Given the description of an element on the screen output the (x, y) to click on. 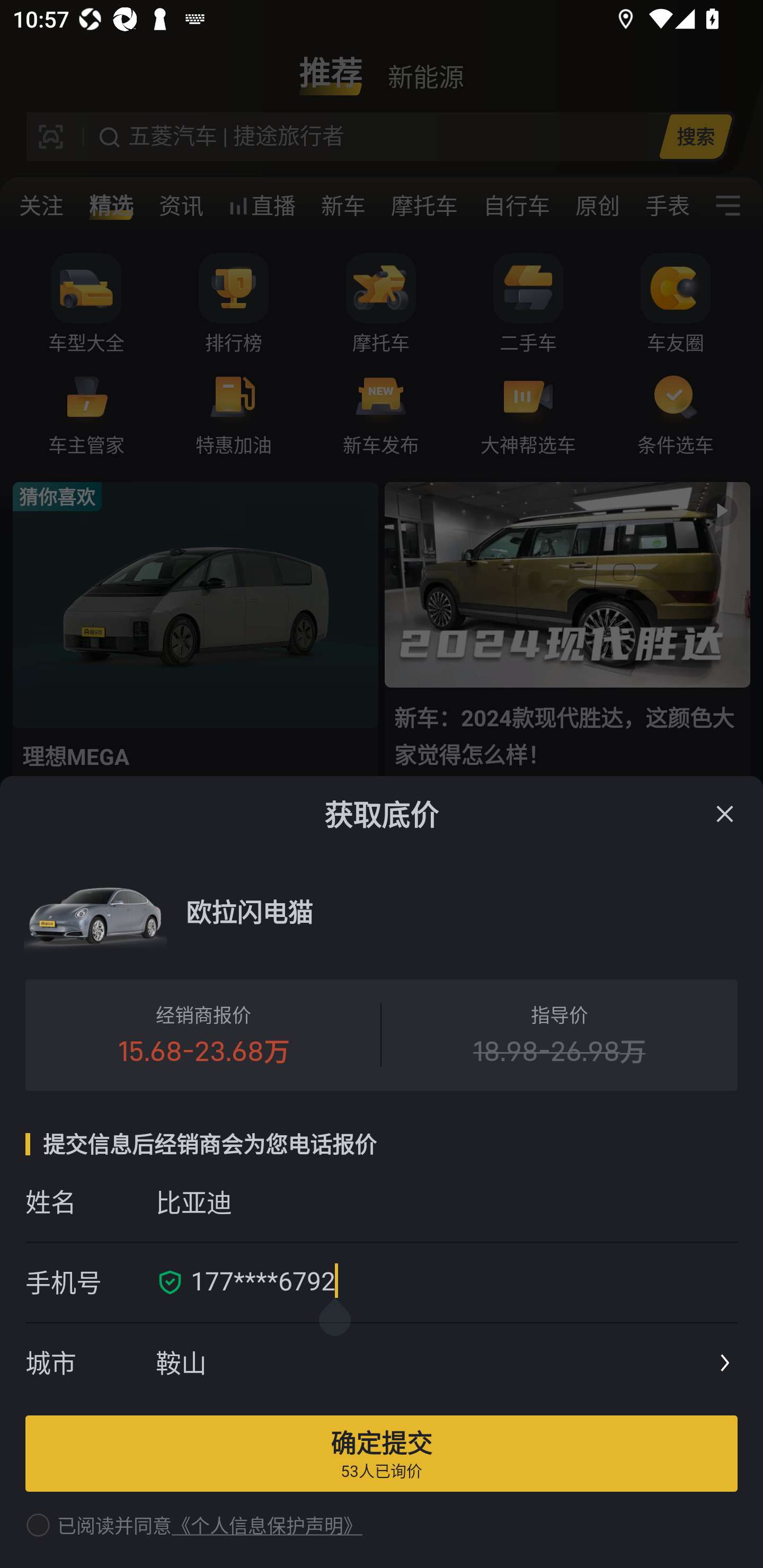
 (724, 813)
姓名 (90, 1201)
比亚迪 (446, 1201)
手机号 (90, 1282)
177****6792 (457, 1282)
城市 鞍山  (381, 1363)
确定提交 53人已询价 (381, 1453)
